Given the description of an element on the screen output the (x, y) to click on. 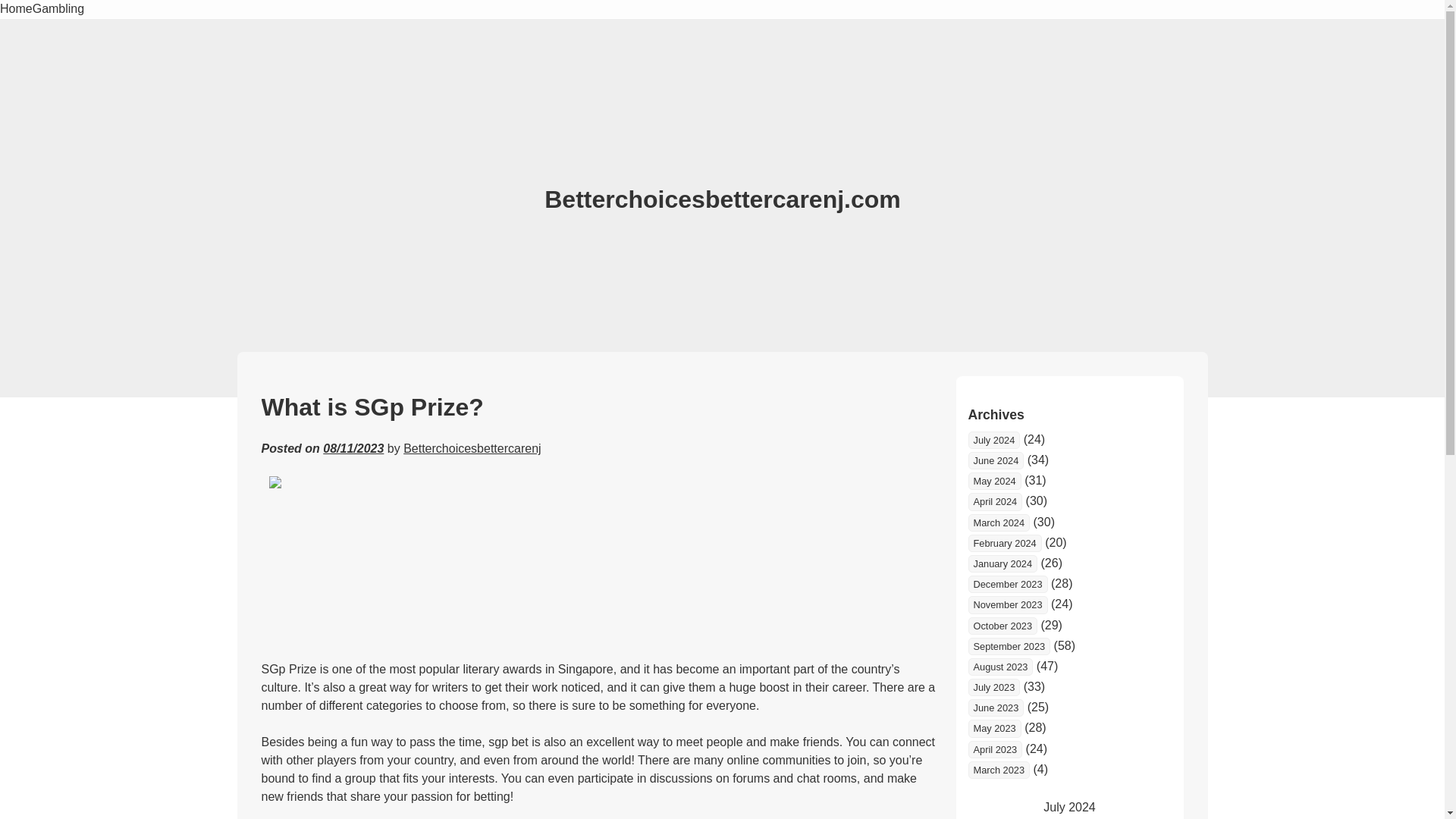
April 2023 (995, 749)
November 2023 (1007, 604)
July 2024 (994, 439)
March 2024 (998, 522)
May 2024 (994, 480)
February 2024 (1004, 543)
January 2024 (1002, 563)
September 2023 (1008, 646)
July 2023 (994, 687)
March 2023 (998, 769)
Home (16, 9)
Gambling (58, 9)
